Given the description of an element on the screen output the (x, y) to click on. 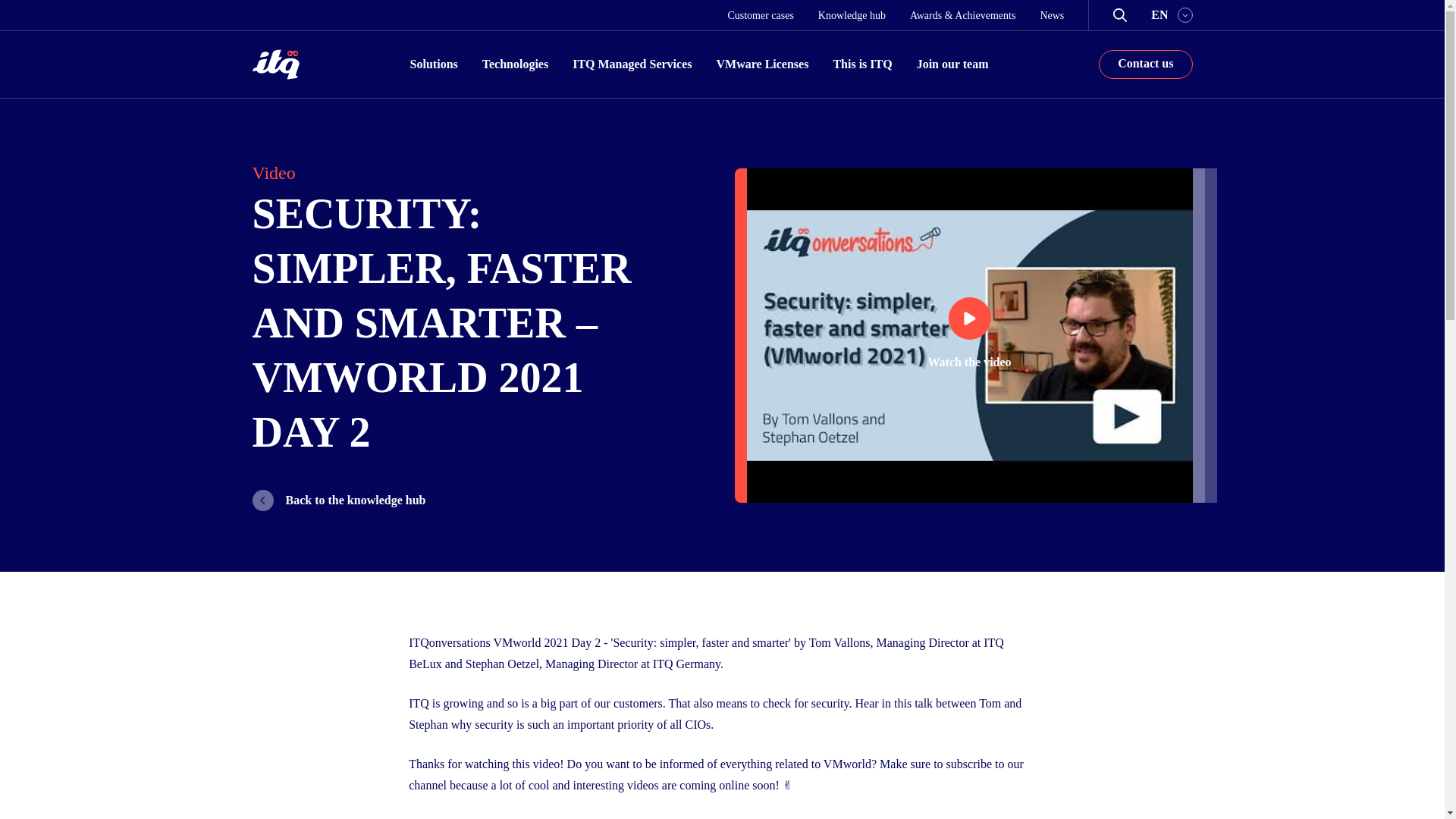
Knowledge hub (851, 14)
EN (1171, 14)
Customer cases (759, 14)
News (1051, 14)
Solutions (434, 64)
Technologies (514, 64)
